Given the description of an element on the screen output the (x, y) to click on. 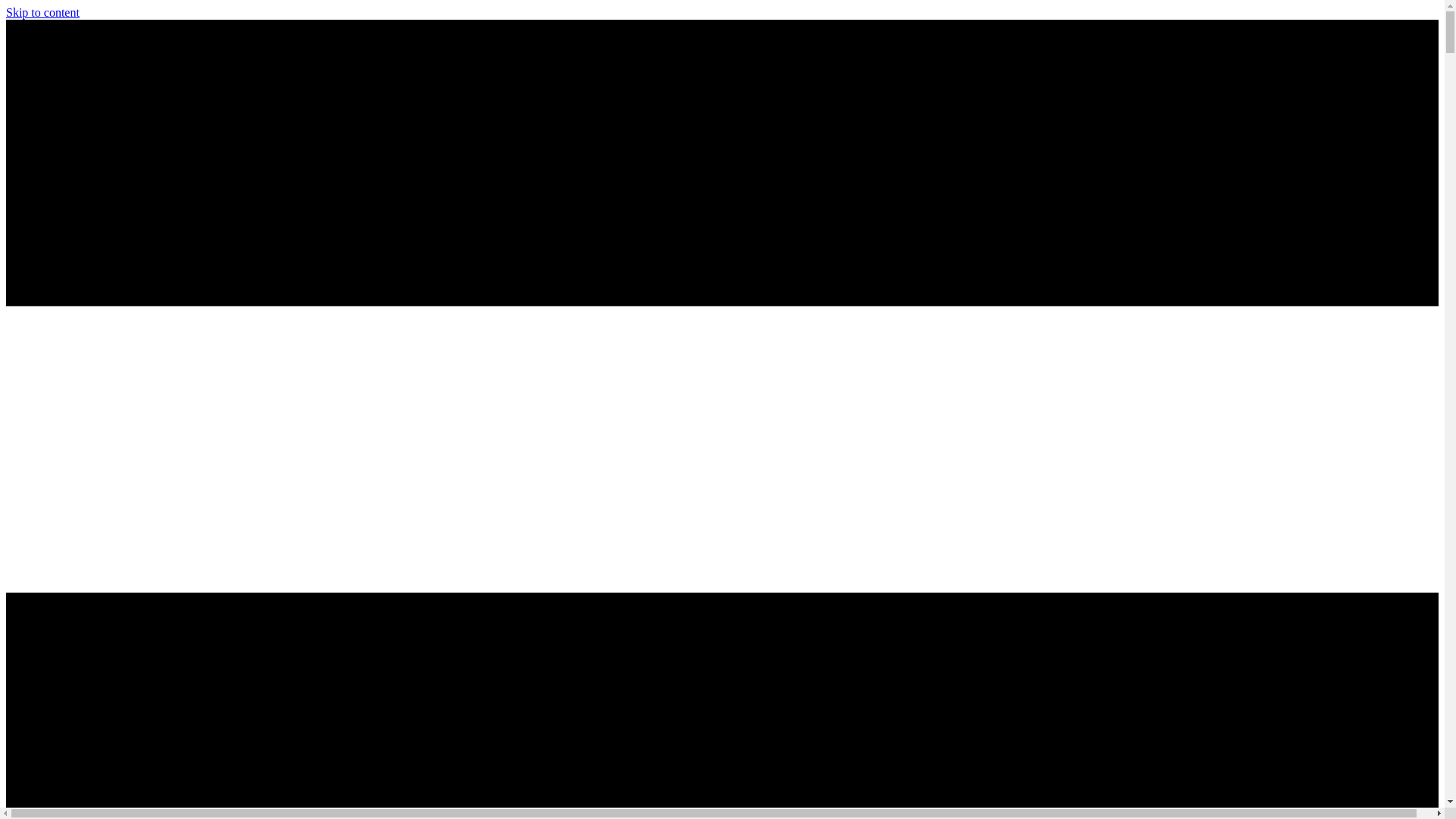
Skip to content (42, 11)
